Given the description of an element on the screen output the (x, y) to click on. 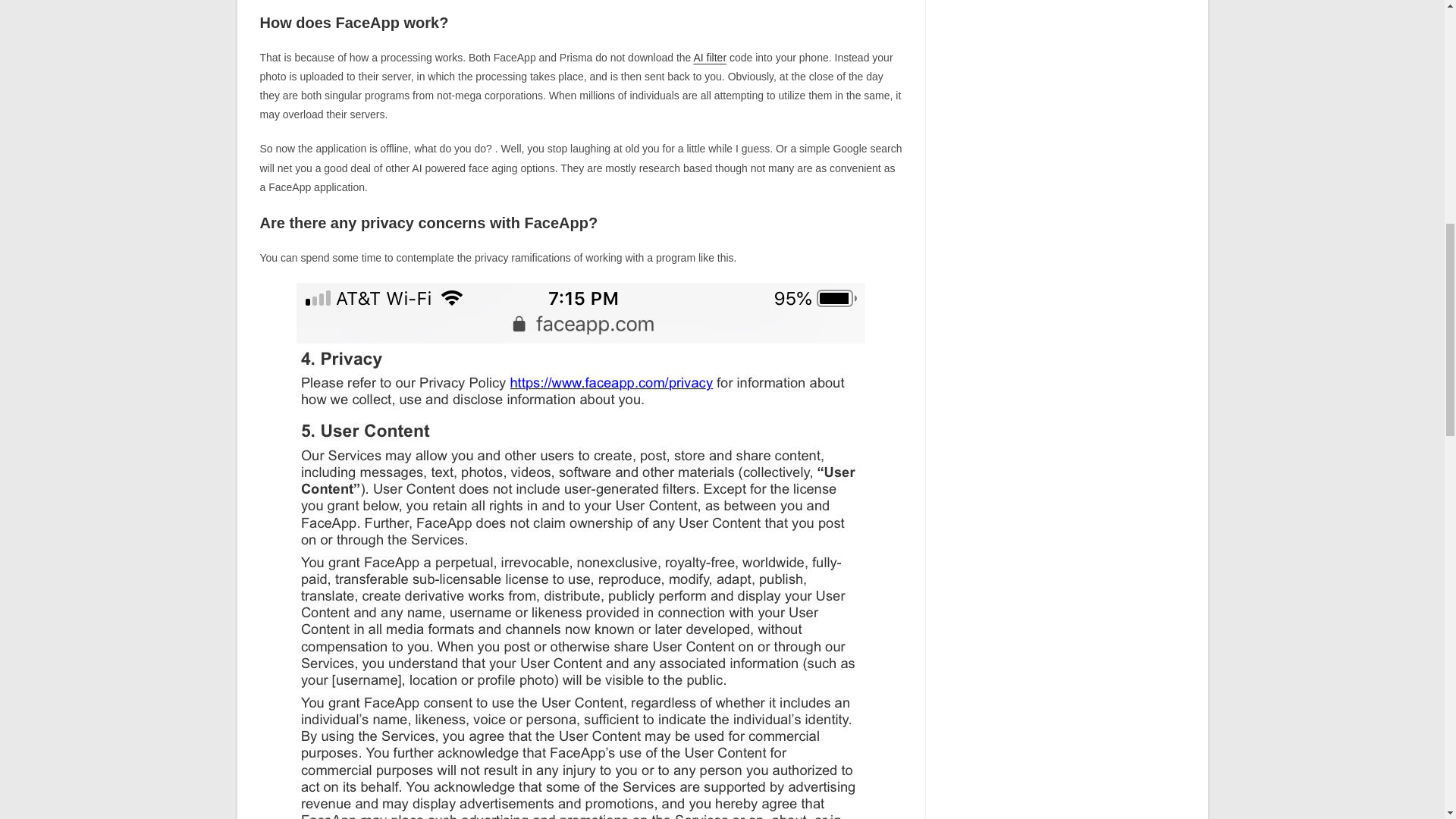
AI filter (709, 57)
